Given the description of an element on the screen output the (x, y) to click on. 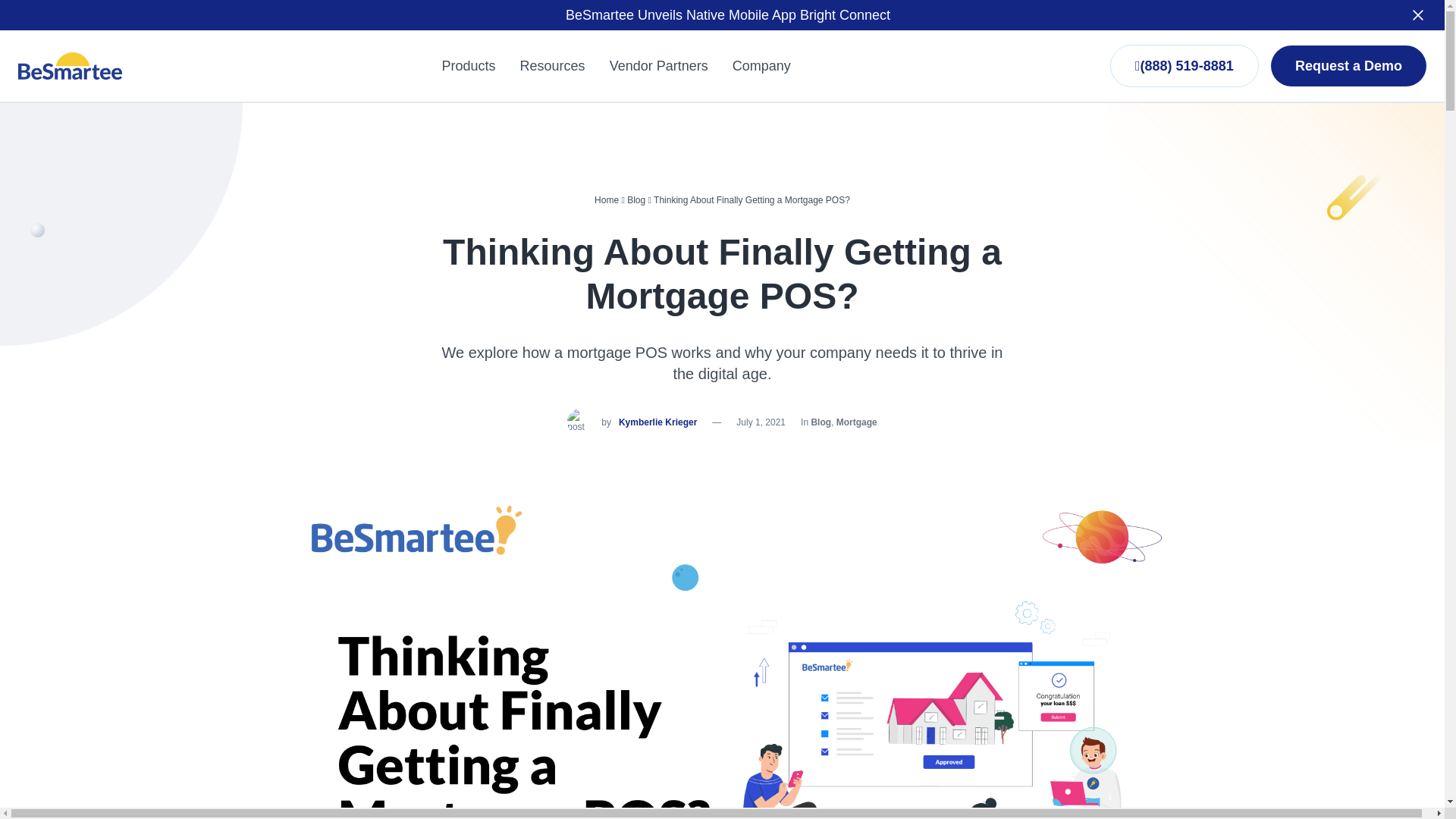
Go to homepage (69, 65)
Request a Demo (1348, 65)
Close announcement banner (1417, 14)
Resources (552, 65)
BeSmartee Unveils Native Mobile App Bright Connect (727, 14)
Vendor Partners (658, 65)
